Given the description of an element on the screen output the (x, y) to click on. 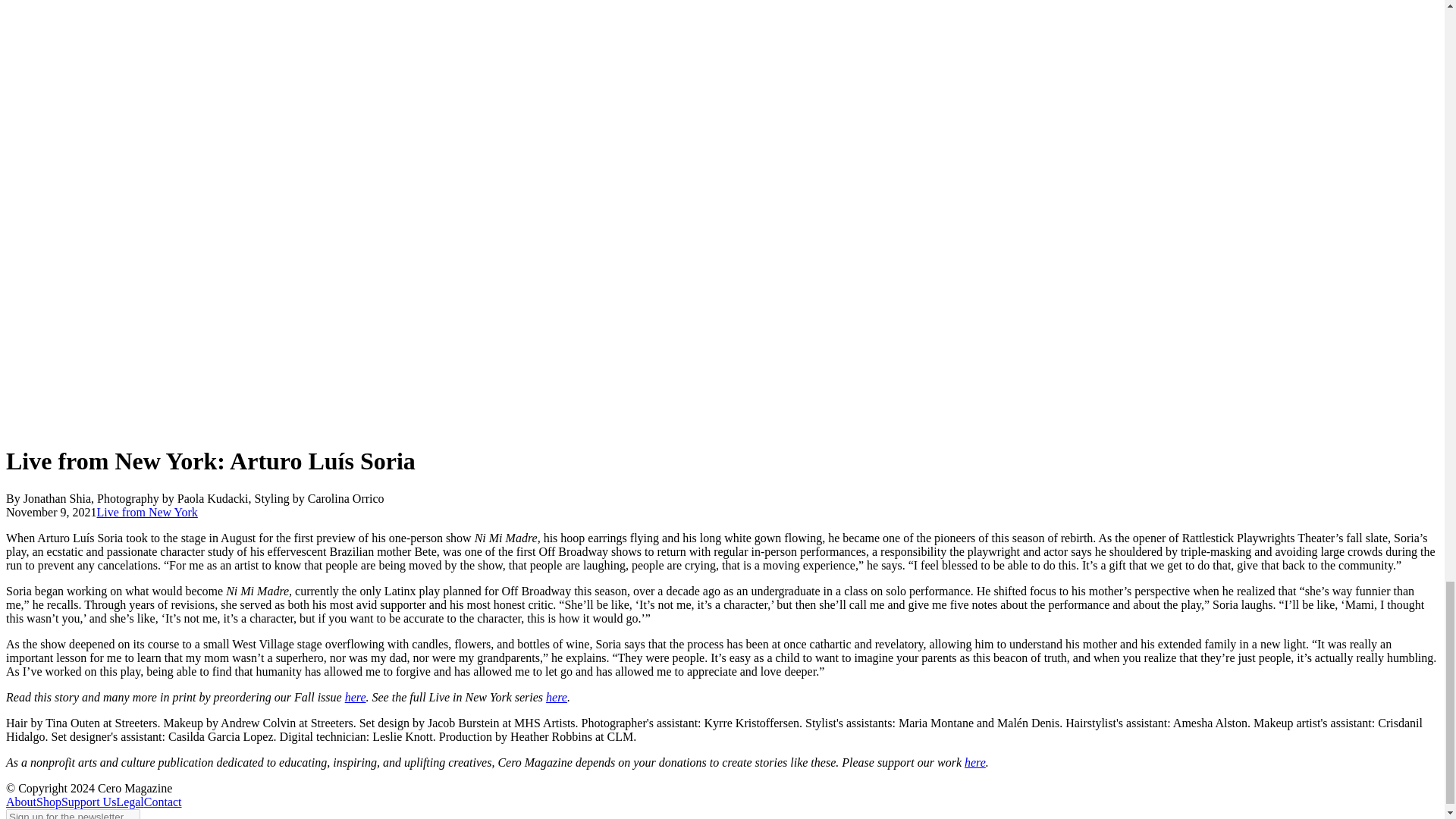
Shop (48, 801)
About (20, 801)
here (355, 697)
here (556, 697)
Legal (129, 801)
Contact (163, 801)
Live from New York (147, 512)
here (974, 762)
Support Us (88, 801)
